Given the description of an element on the screen output the (x, y) to click on. 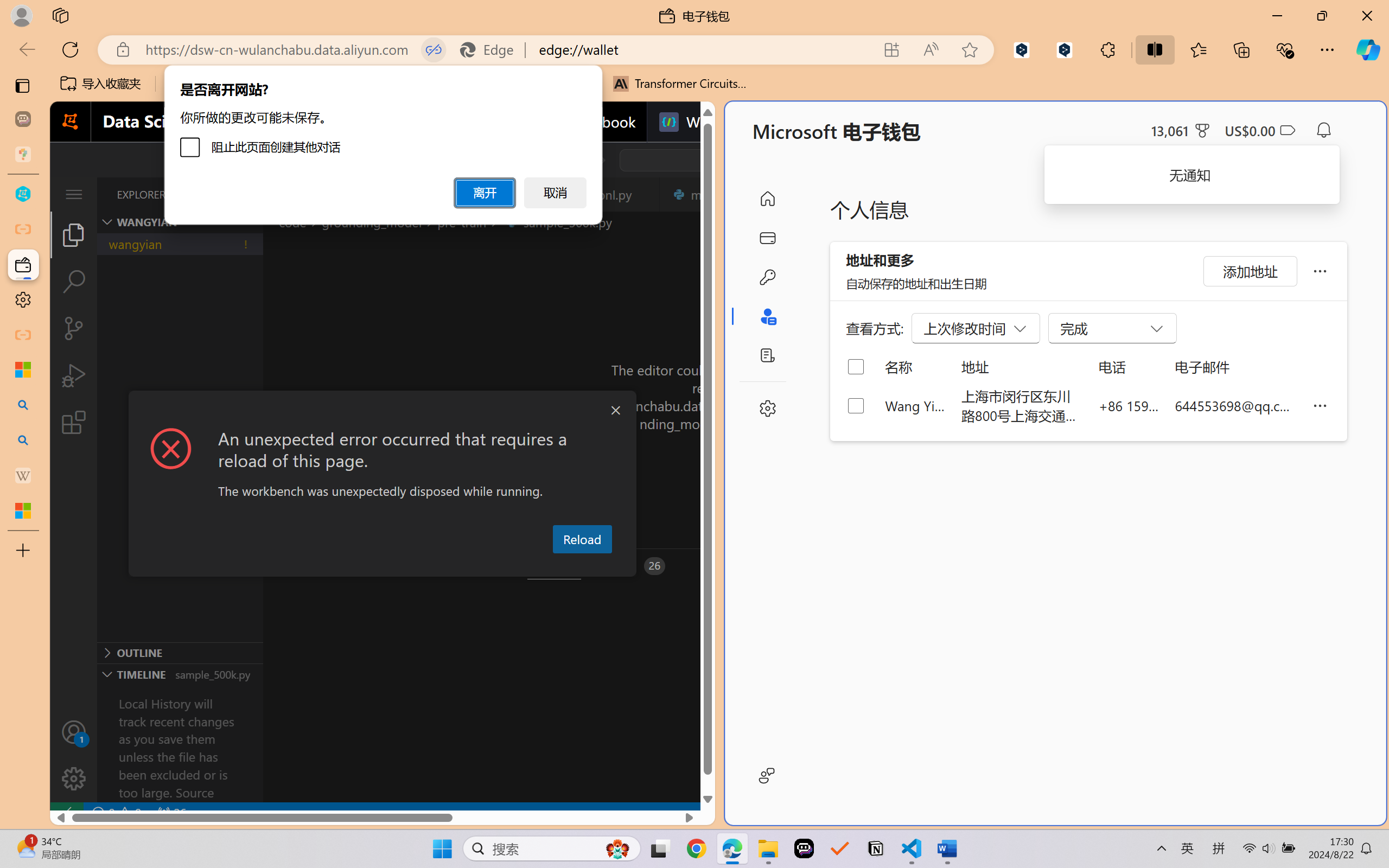
wangyian_dsw - DSW (22, 194)
Problems (Ctrl+Shift+M) (308, 565)
